Given the description of an element on the screen output the (x, y) to click on. 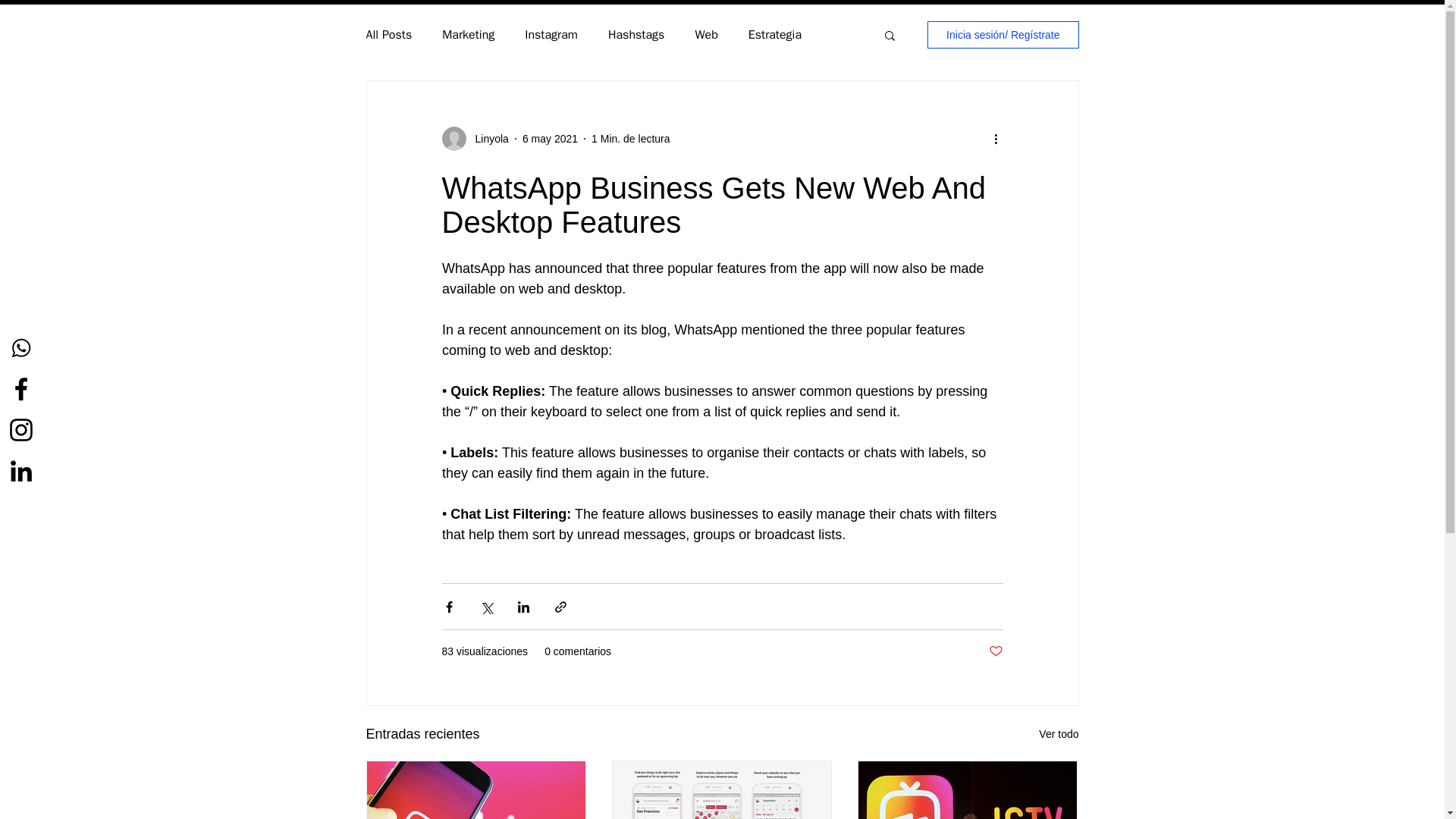
Marketing (468, 35)
Ver todo (1058, 734)
6 may 2021 (550, 137)
Web (705, 35)
All Posts (388, 35)
Linyola (486, 138)
Entrada no marcada como Me Gusta (995, 651)
Estrategia (775, 35)
Instagram (551, 35)
Hashstags (635, 35)
